Given the description of an element on the screen output the (x, y) to click on. 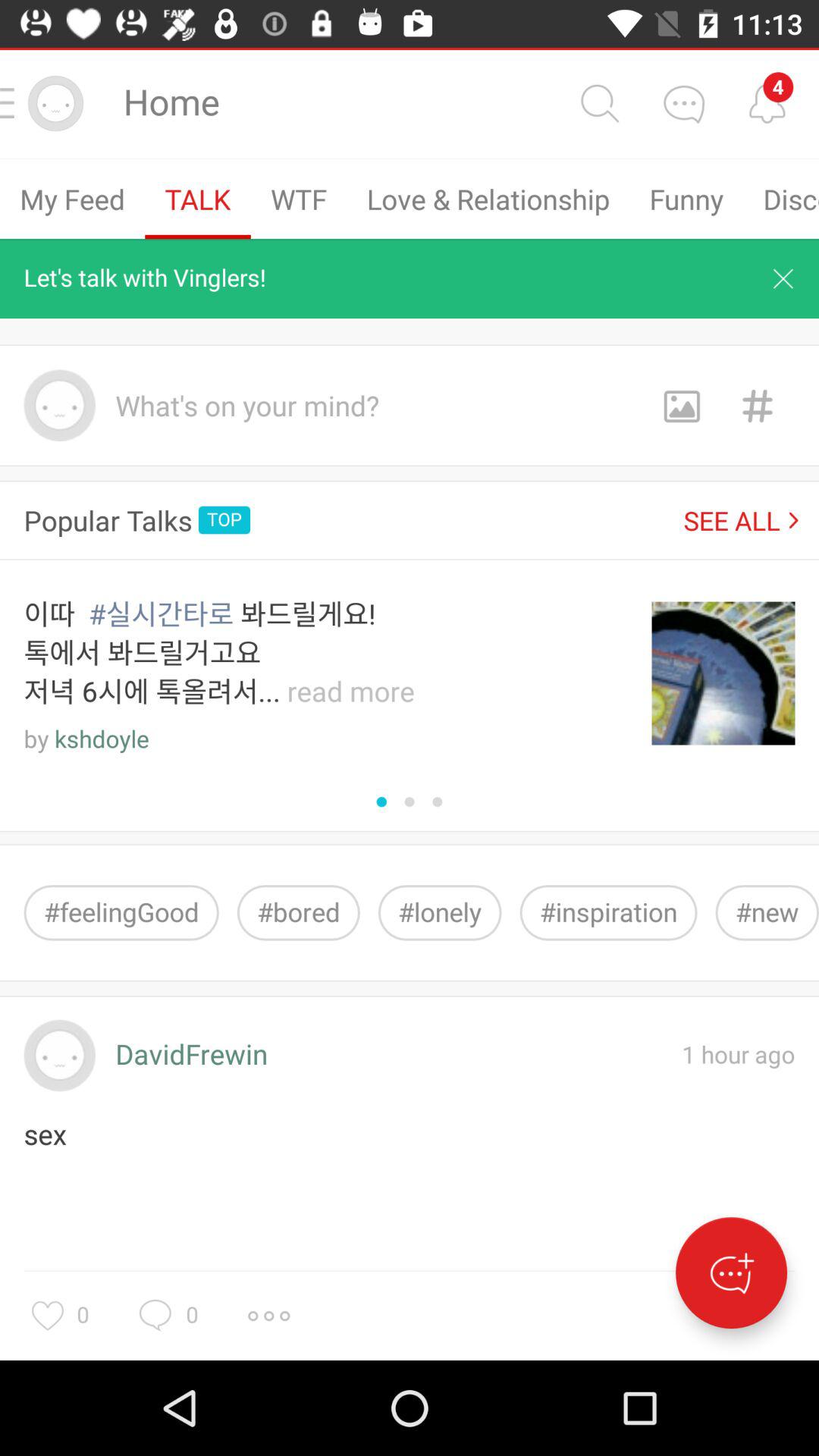
check the notifications (766, 103)
